Given the description of an element on the screen output the (x, y) to click on. 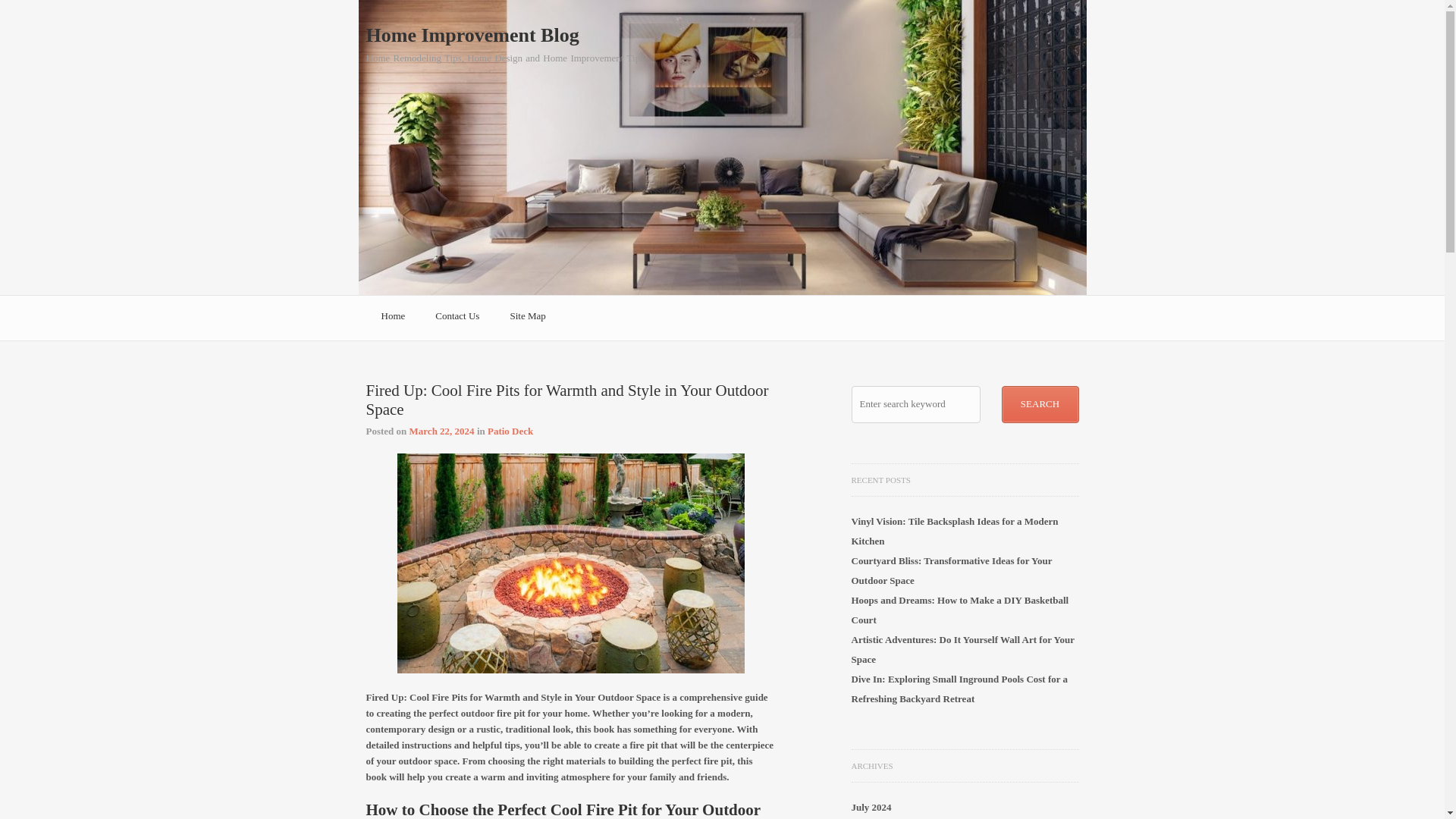
Home Improvement Blog (471, 34)
Courtyard Bliss: Transformative Ideas for Your Outdoor Space (950, 570)
Home Improvement Blog (471, 34)
Contact Us (457, 317)
Search (1039, 404)
Vinyl Vision: Tile Backsplash Ideas for a Modern Kitchen (954, 531)
Site Map (527, 317)
July 2024 (870, 807)
Search (1039, 404)
Artistic Adventures: Do It Yourself Wall Art for Your Space (962, 649)
Home (392, 317)
Hoops and Dreams: How to Make a DIY Basketball Court (959, 609)
March 22, 2024 (441, 430)
Patio Deck (509, 430)
